Given the description of an element on the screen output the (x, y) to click on. 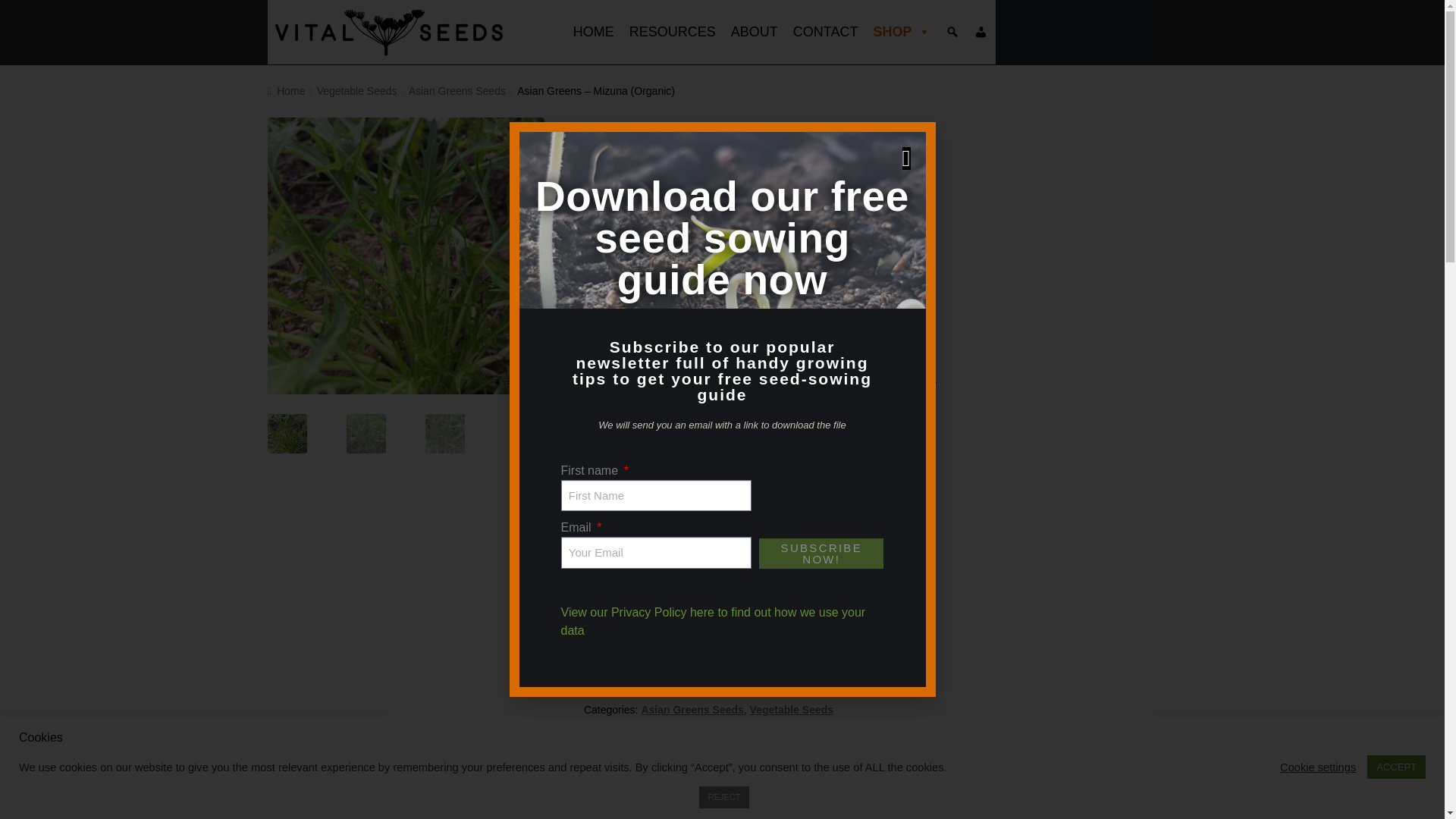
SHOP (900, 32)
Mizuna Asian Greens (682, 255)
Mizuna (404, 255)
RESOURCES (672, 32)
View your shopping basket (1108, 29)
ABOUT (754, 32)
1 (608, 623)
HOME (593, 32)
CONTACT (826, 32)
